Given the description of an element on the screen output the (x, y) to click on. 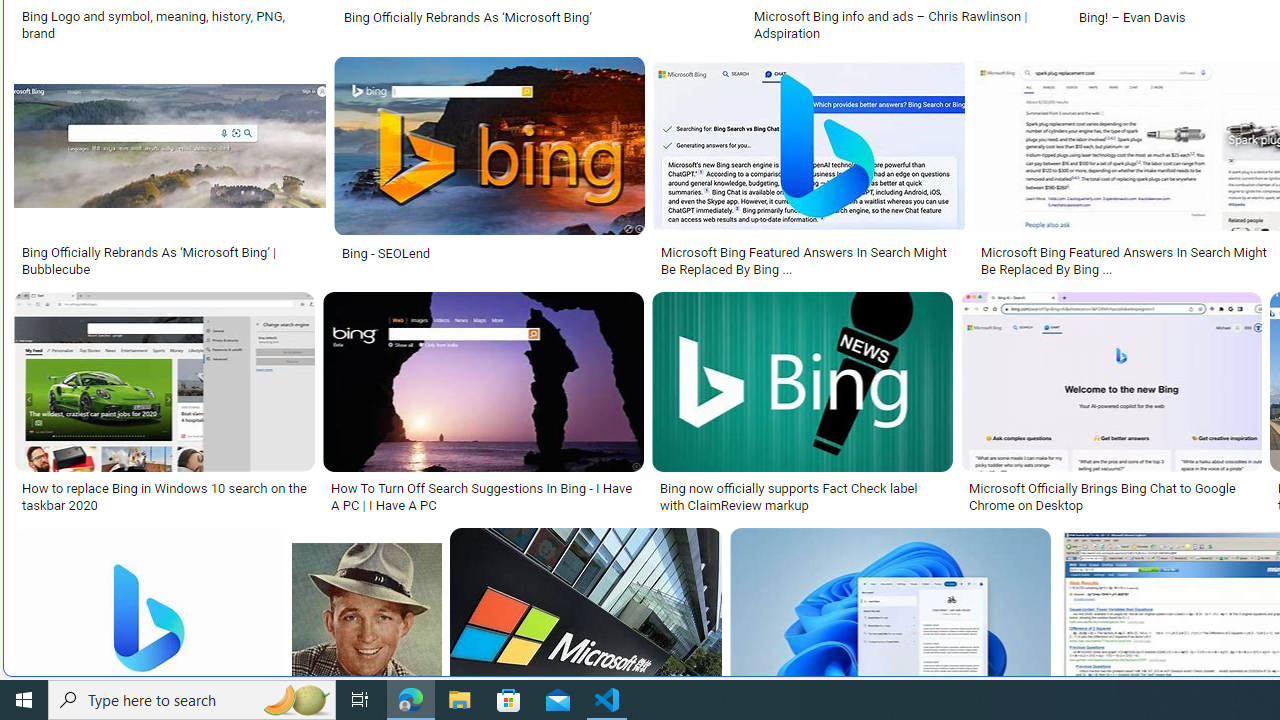
Bing Logo and symbol, meaning, history, PNG, brand (170, 24)
